Given the description of an element on the screen output the (x, y) to click on. 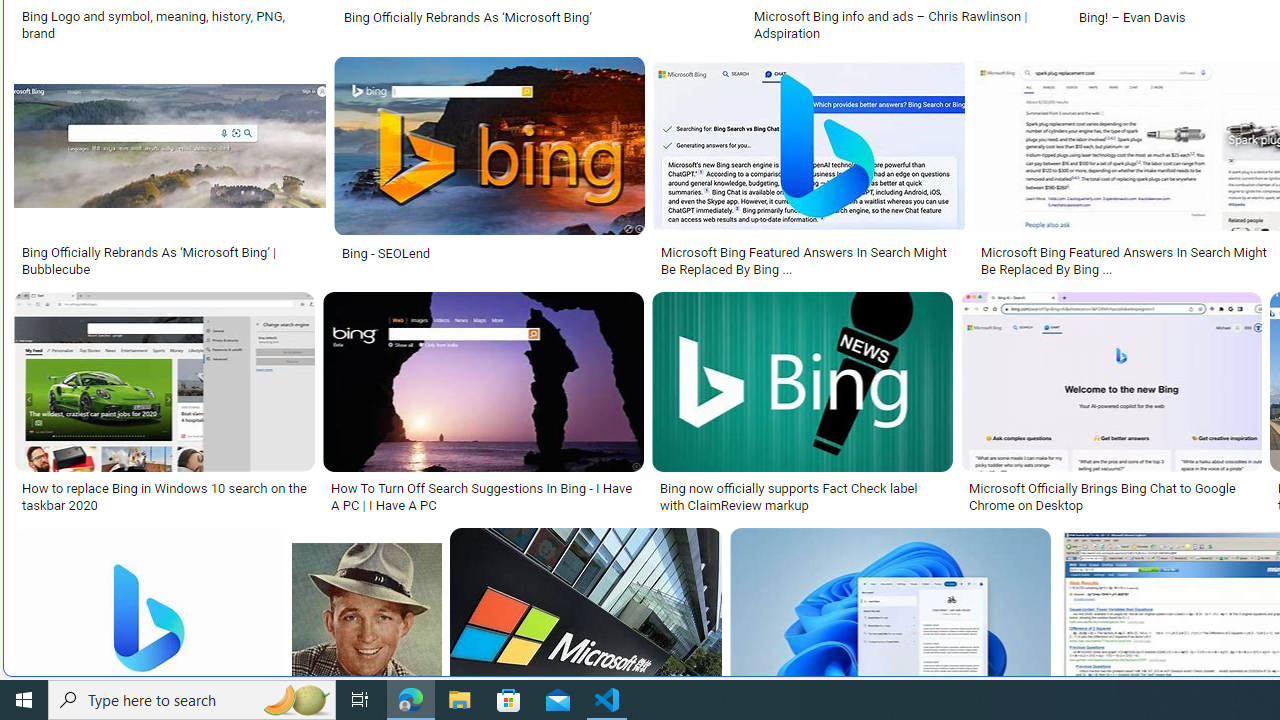
Bing Logo and symbol, meaning, history, PNG, brand (170, 24)
